Given the description of an element on the screen output the (x, y) to click on. 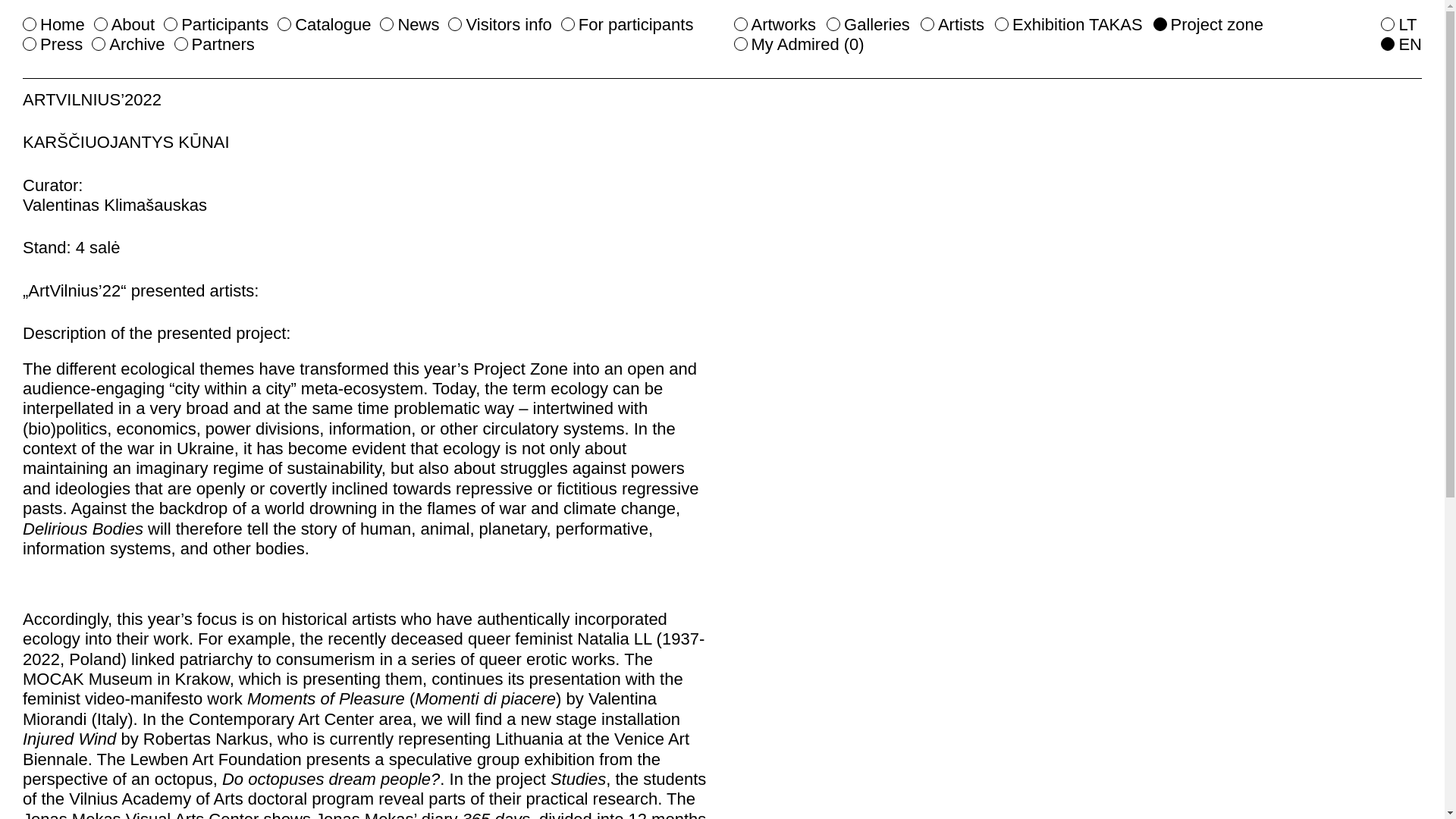
Exhibition TAKAS (1068, 24)
Press (52, 44)
Home (53, 24)
Partners (214, 44)
Artworks (774, 24)
News (409, 24)
Artists (952, 24)
Visitors info (499, 24)
Project zone (1208, 24)
Archive (127, 44)
